Given the description of an element on the screen output the (x, y) to click on. 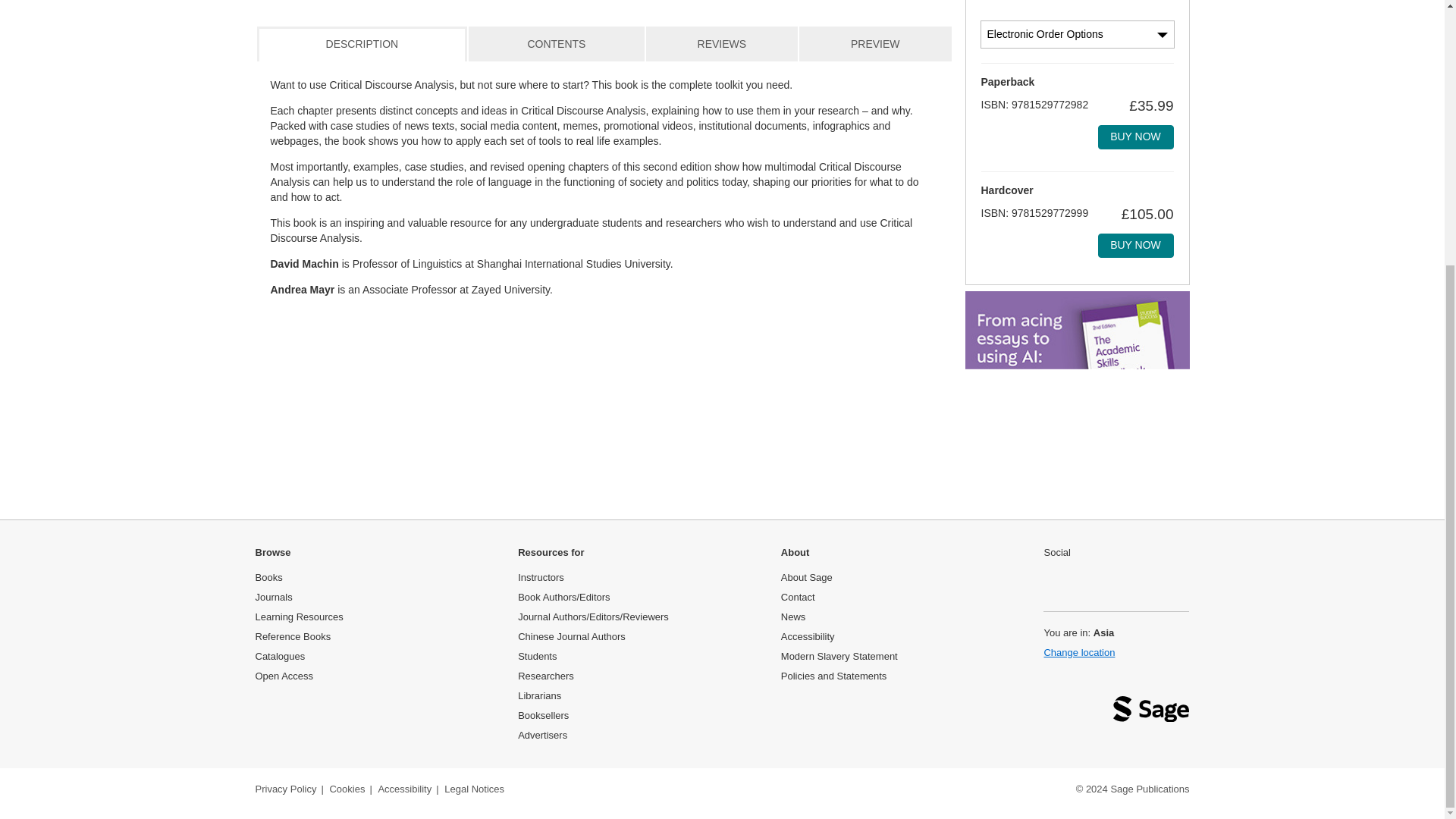
Learn more about The Academic Skills Handbook 2e (1076, 469)
Buy now (1135, 137)
Buy now (1135, 245)
Catalogues (279, 655)
